Given the description of an element on the screen output the (x, y) to click on. 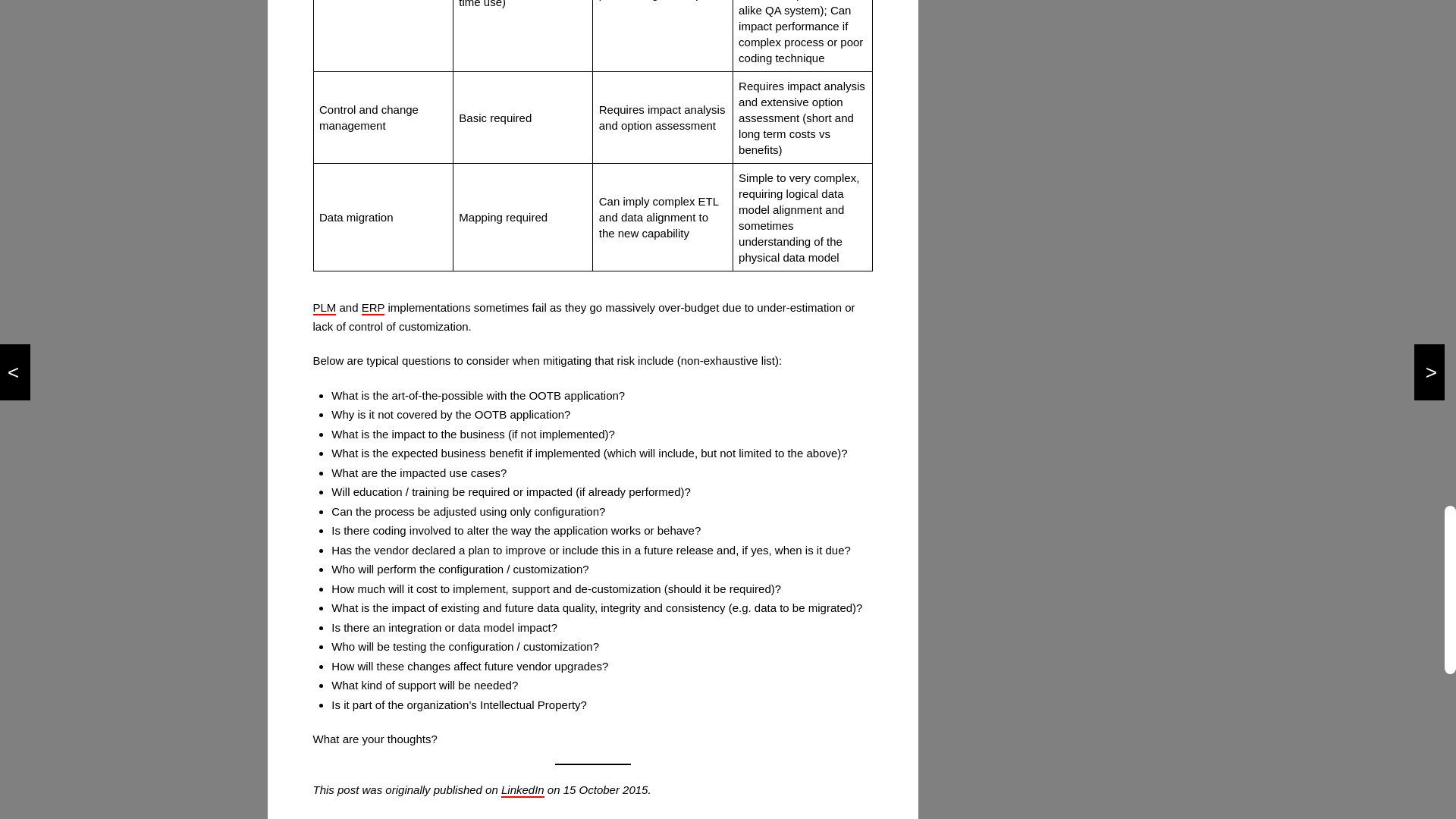
PLM (324, 308)
ERP (373, 308)
LinkedIn (522, 789)
